Given the description of an element on the screen output the (x, y) to click on. 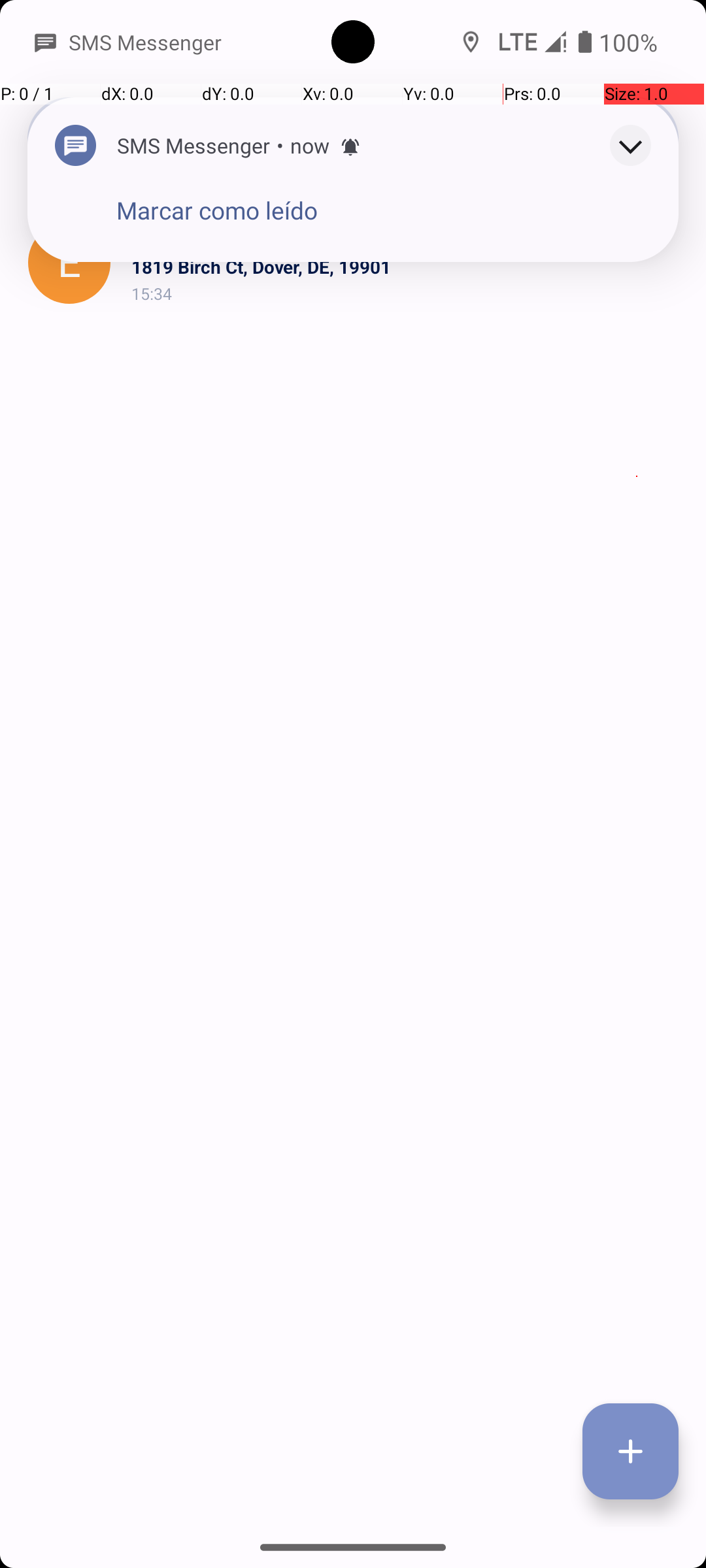
Acerca de Element type: android.widget.Button (560, 138)
Elias Chen Element type: android.widget.TextView (408, 237)
1819 Birch Ct, Dover, DE, 19901 Element type: android.widget.TextView (408, 266)
Marcar como leído Element type: android.widget.Button (216, 210)
Alerted Element type: android.widget.ImageView (349, 146)
